Given the description of an element on the screen output the (x, y) to click on. 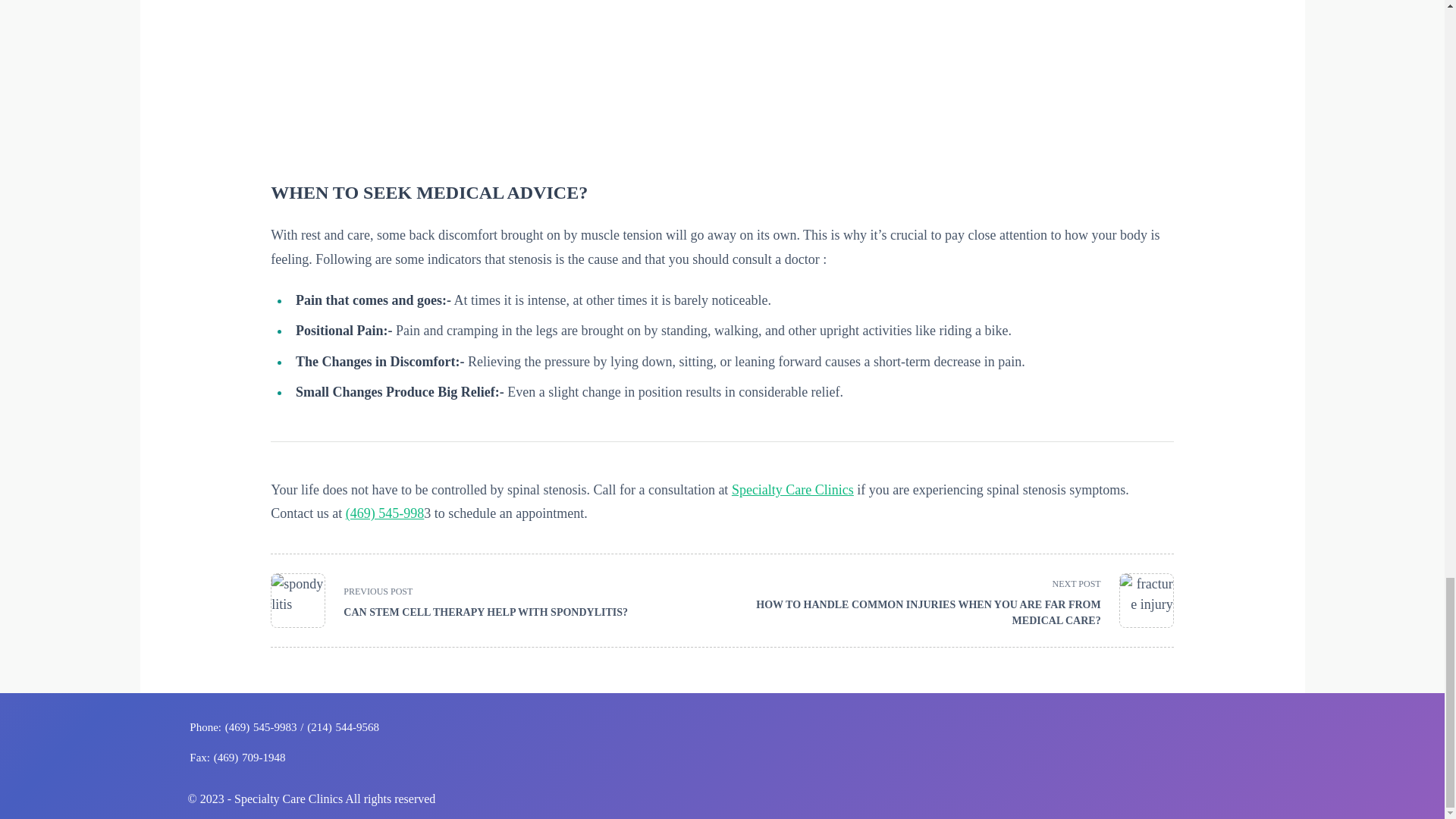
Specialty Care Clinics (458, 600)
